Given the description of an element on the screen output the (x, y) to click on. 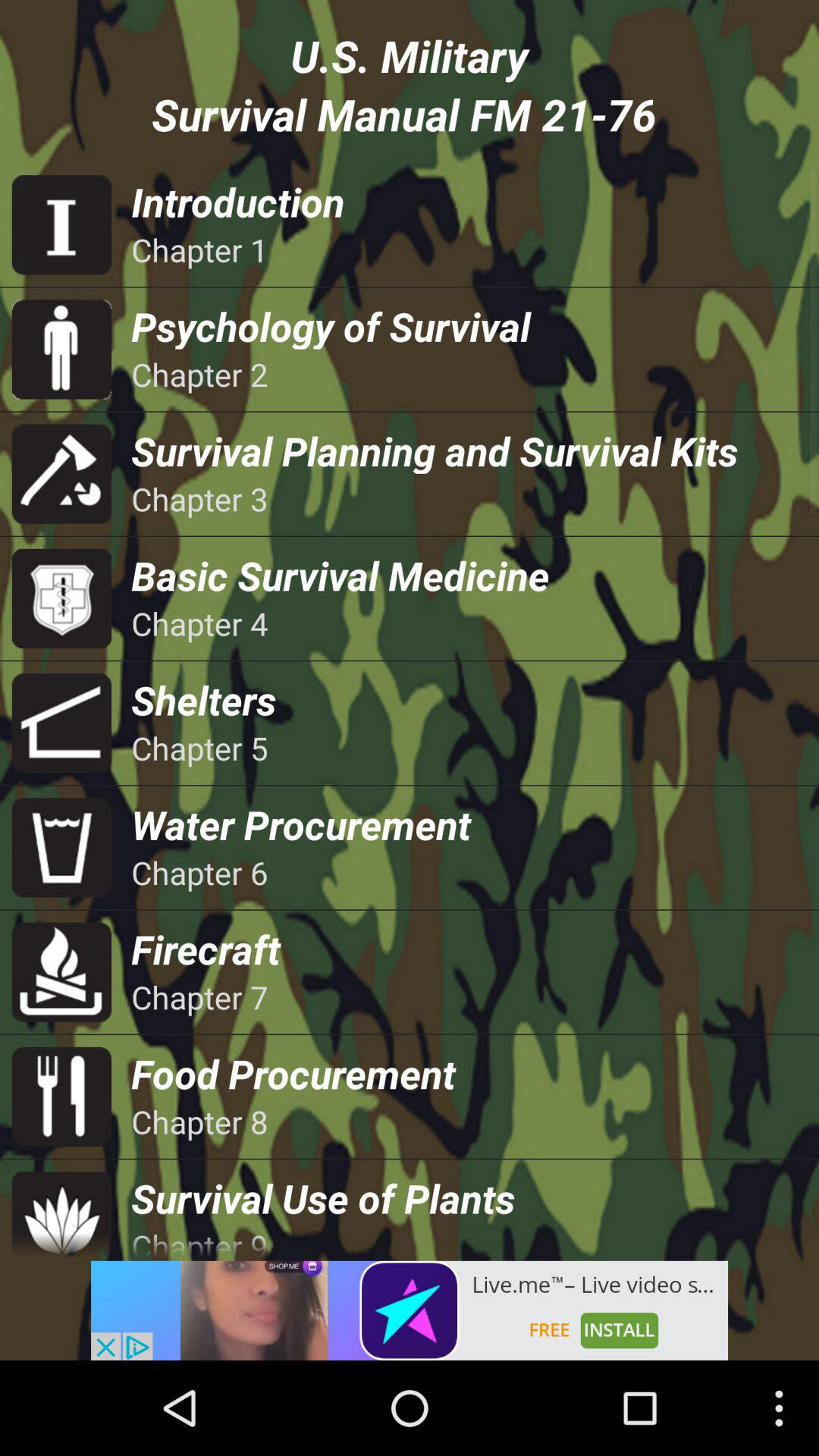
go to advertisement (409, 1310)
